Given the description of an element on the screen output the (x, y) to click on. 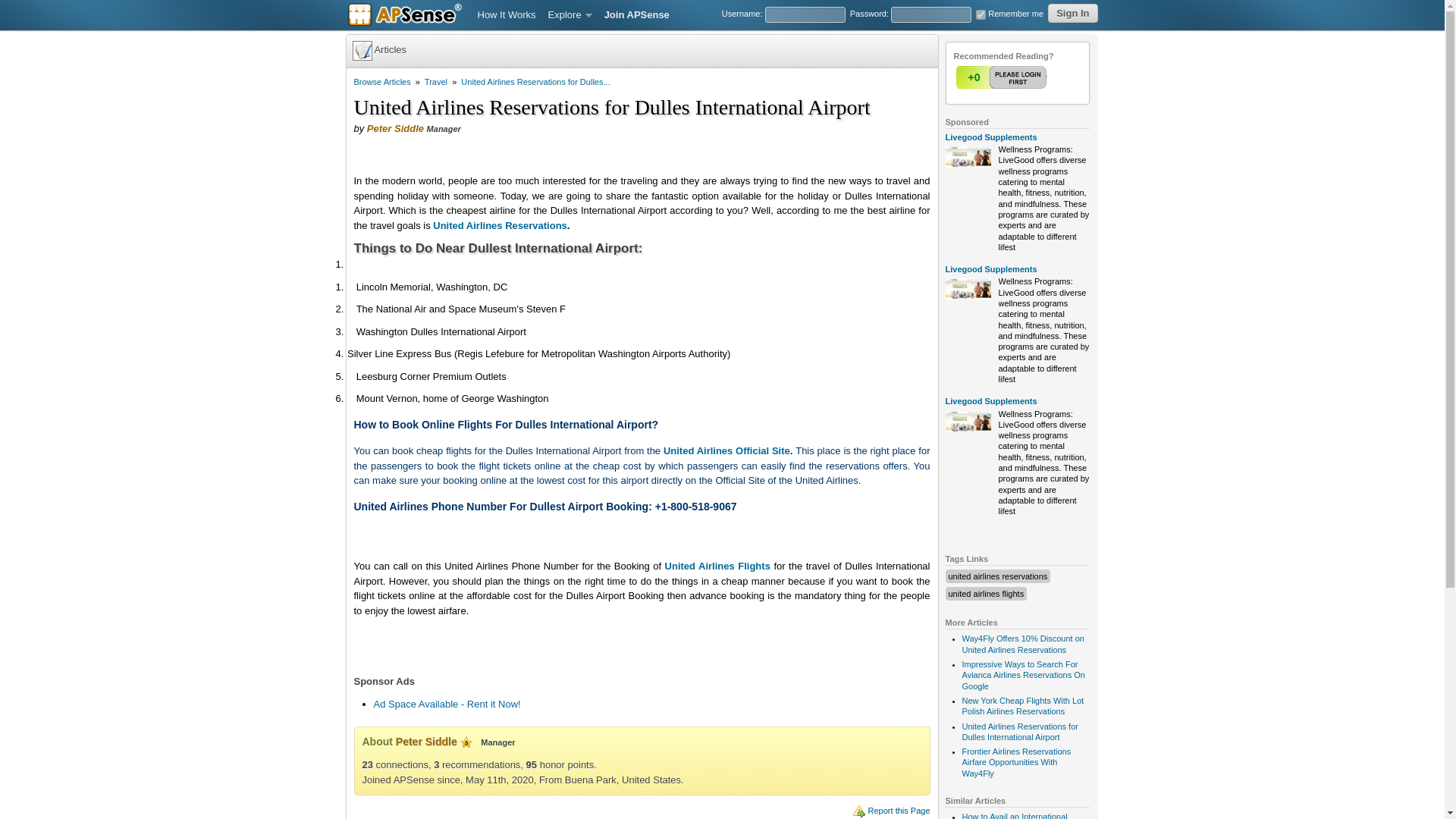
-1 (1031, 77)
Livegood Supplements (990, 400)
Livegood Supplements (990, 136)
1 (1002, 77)
Travel (435, 81)
Peter Siddle (426, 741)
Browse Articles (381, 81)
1 (980, 14)
How It Works (506, 15)
Report this Page (898, 809)
Join APSense (636, 15)
United Airlines Official Site (726, 450)
United Airlines Reservations for Dulles... (535, 81)
